Given the description of an element on the screen output the (x, y) to click on. 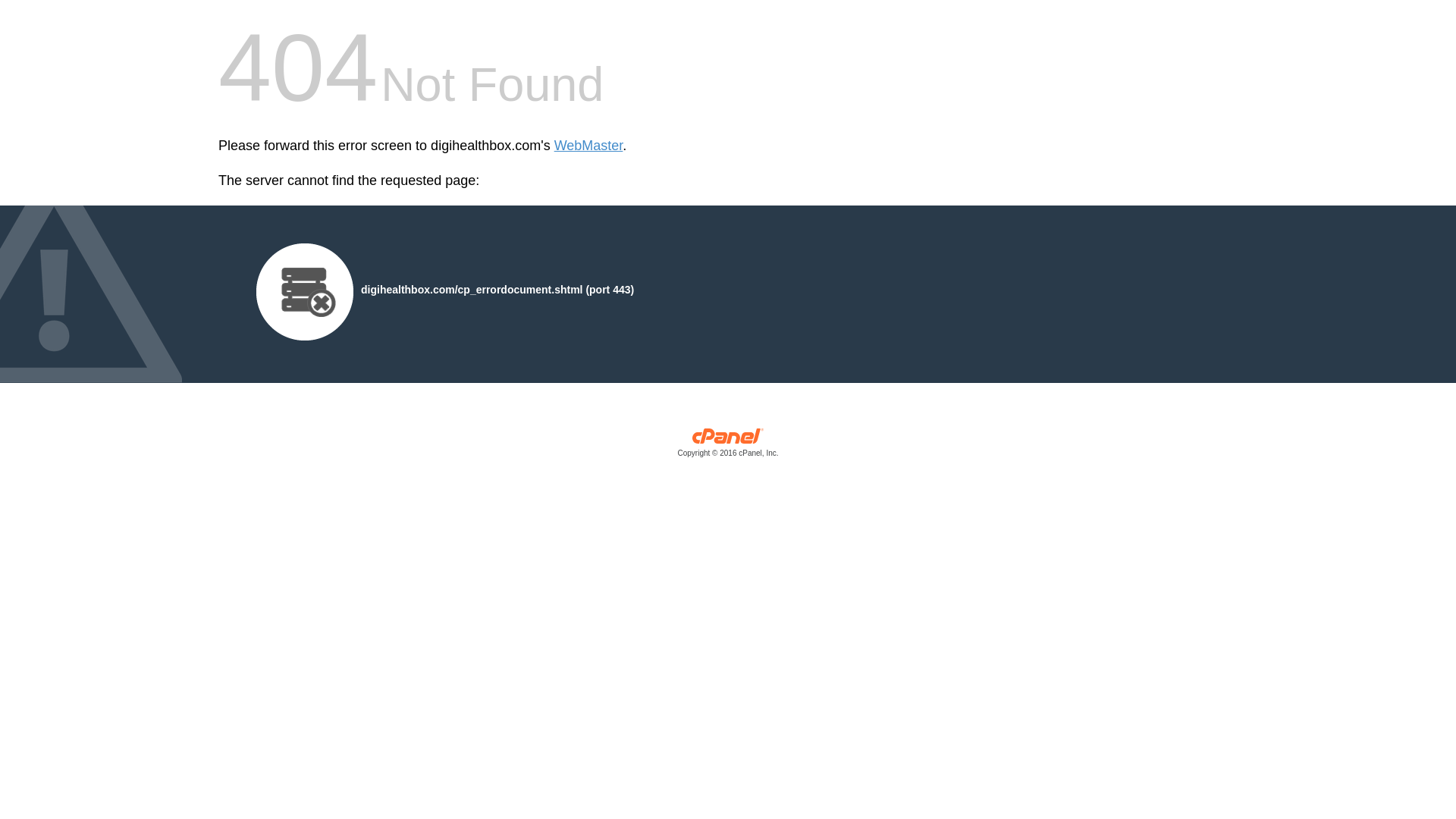
WebMaster (588, 145)
cPanel, Inc. (727, 446)
